Given the description of an element on the screen output the (x, y) to click on. 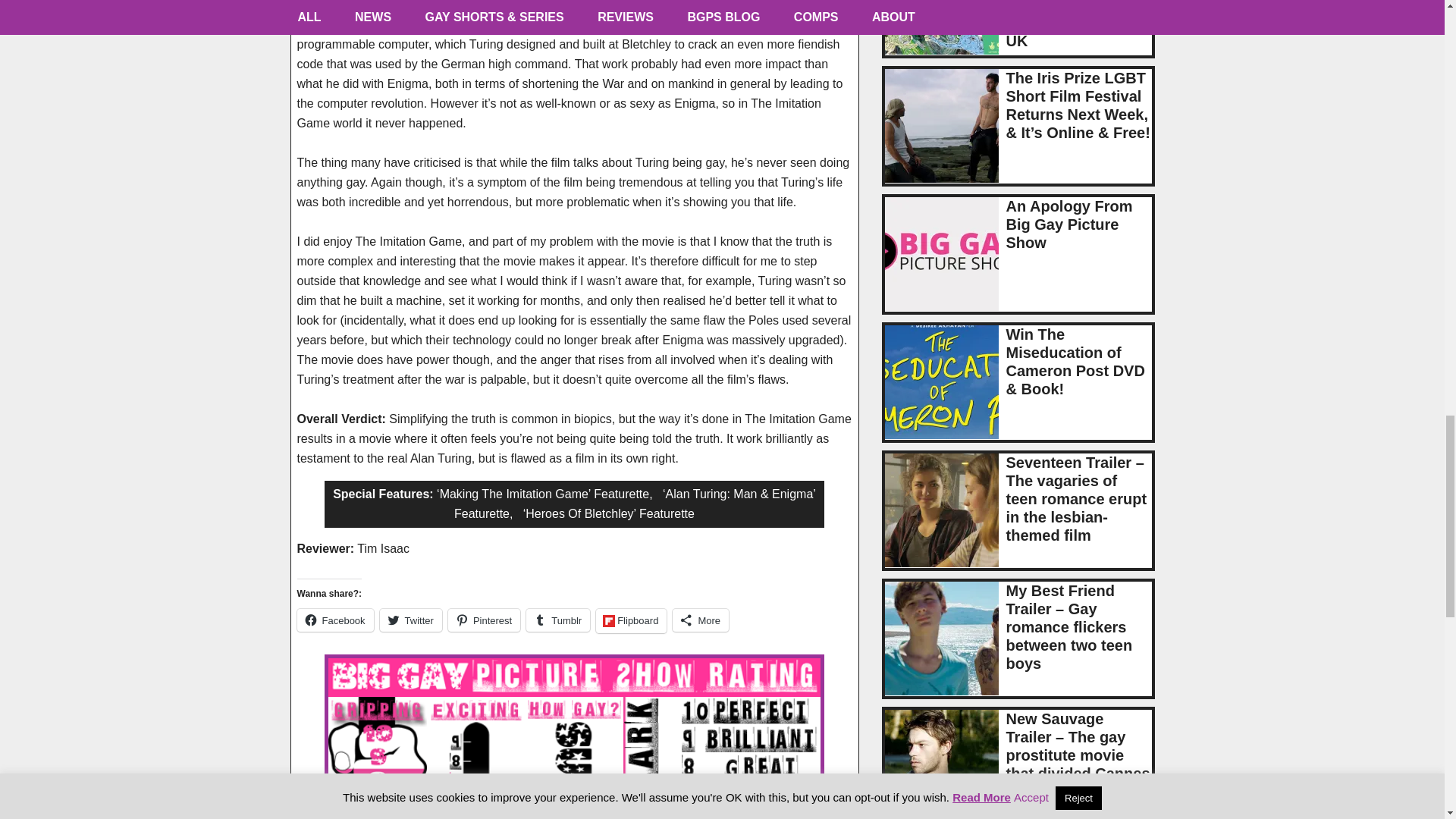
Twitter (411, 620)
Click to share on Twitter (411, 620)
Click to share on Facebook (335, 620)
Facebook (335, 620)
Flipboard (630, 621)
Tumblr (557, 620)
Pinterest (483, 620)
More (700, 620)
